Given the description of an element on the screen output the (x, y) to click on. 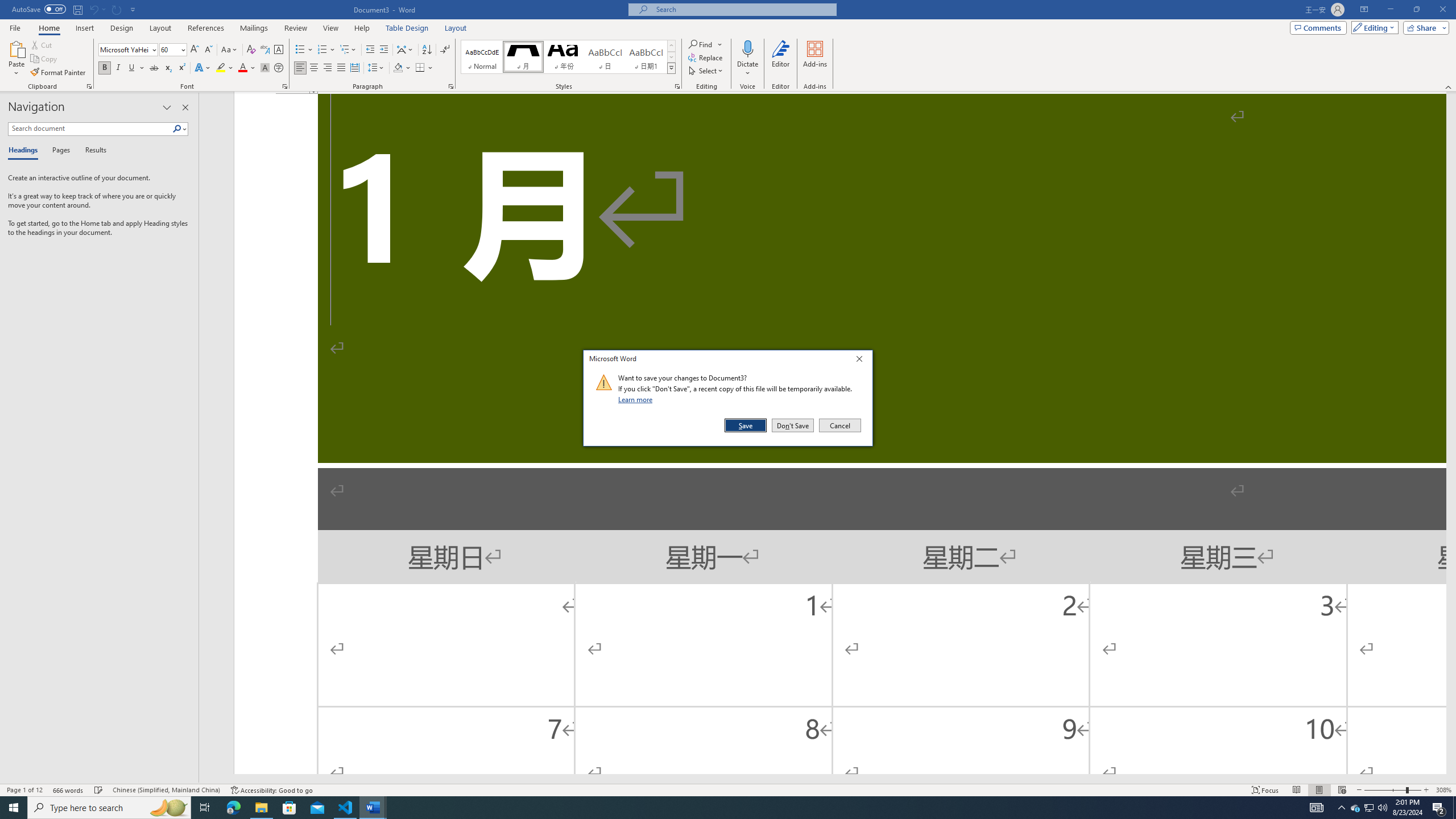
Borders (419, 67)
Superscript (180, 67)
